Given the description of an element on the screen output the (x, y) to click on. 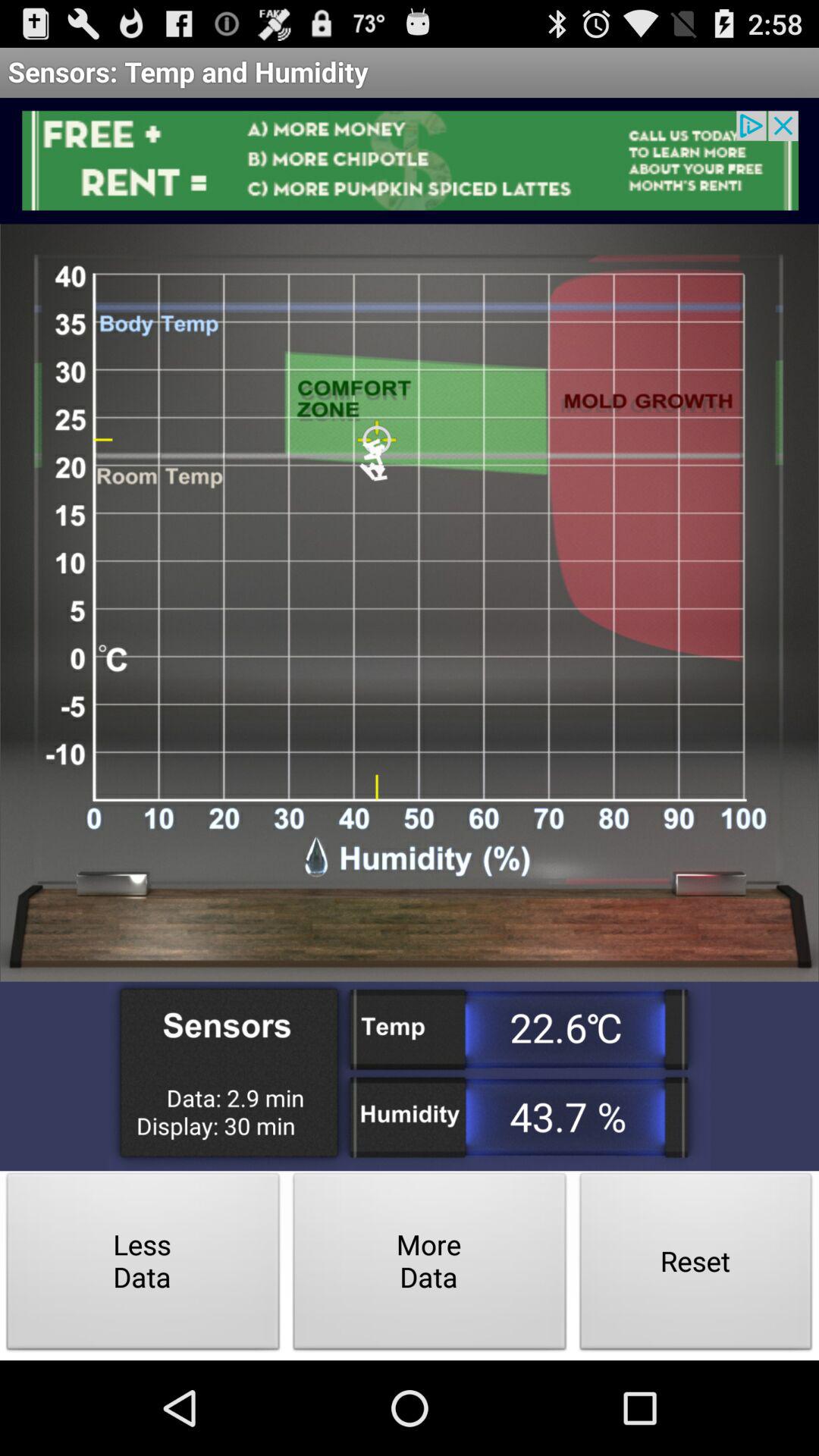
tap less
data button (143, 1265)
